Given the description of an element on the screen output the (x, y) to click on. 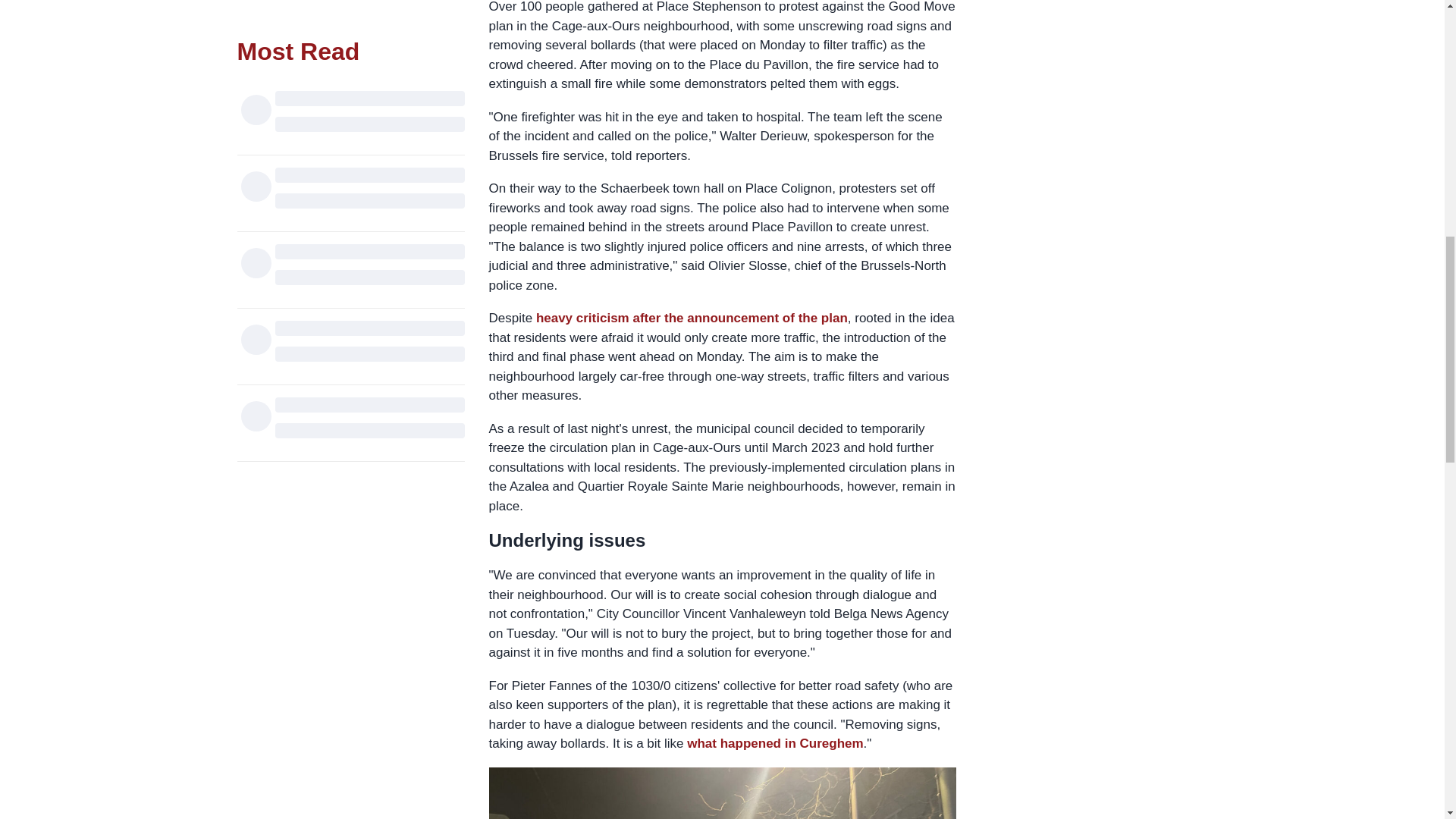
heavy criticism after the announcement of the plan (691, 318)
what happened in Cureghem (775, 743)
